Given the description of an element on the screen output the (x, y) to click on. 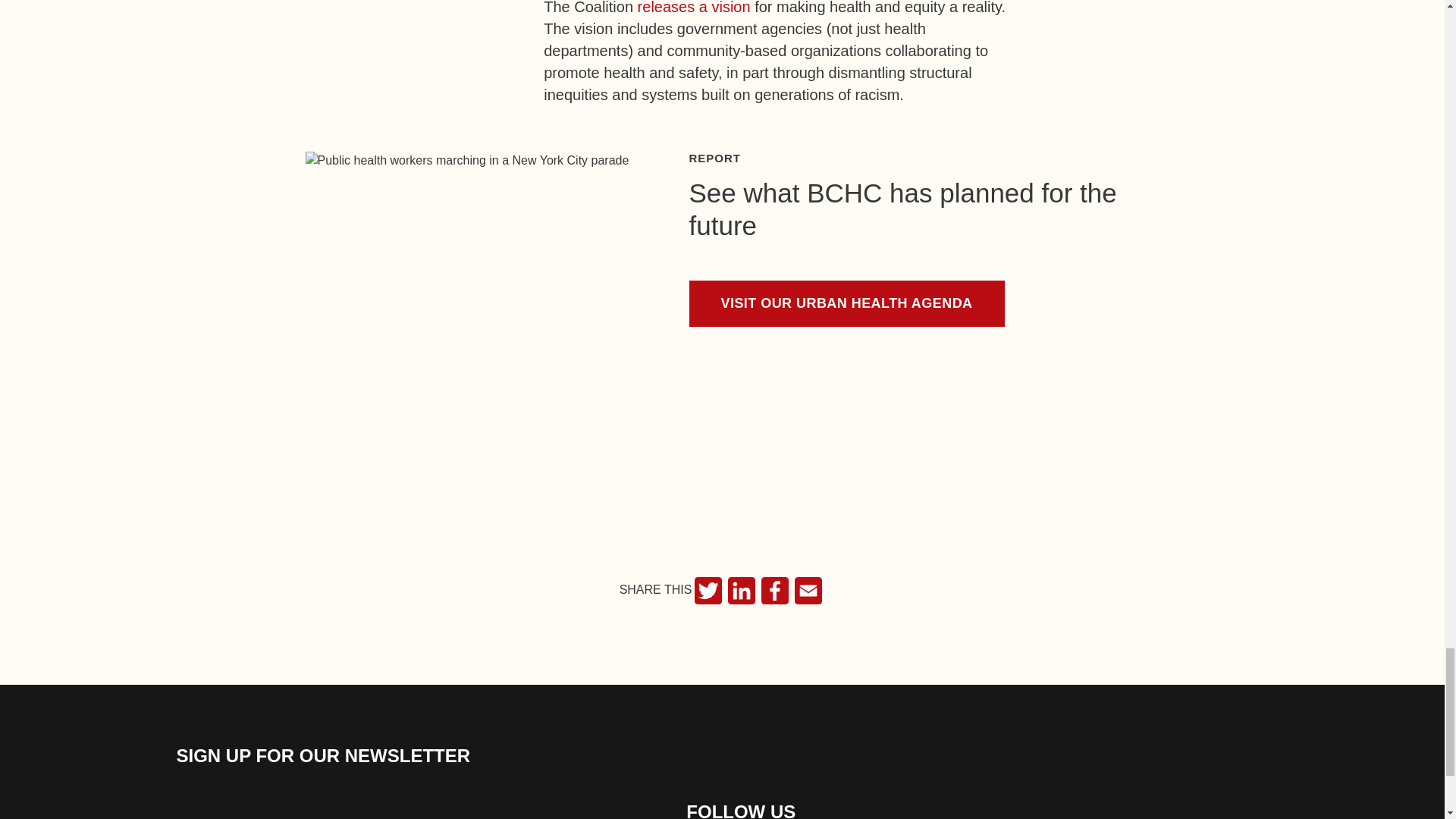
Twitter (708, 590)
Facebook (775, 590)
Email (808, 590)
LinkedIn (741, 590)
